Given the description of an element on the screen output the (x, y) to click on. 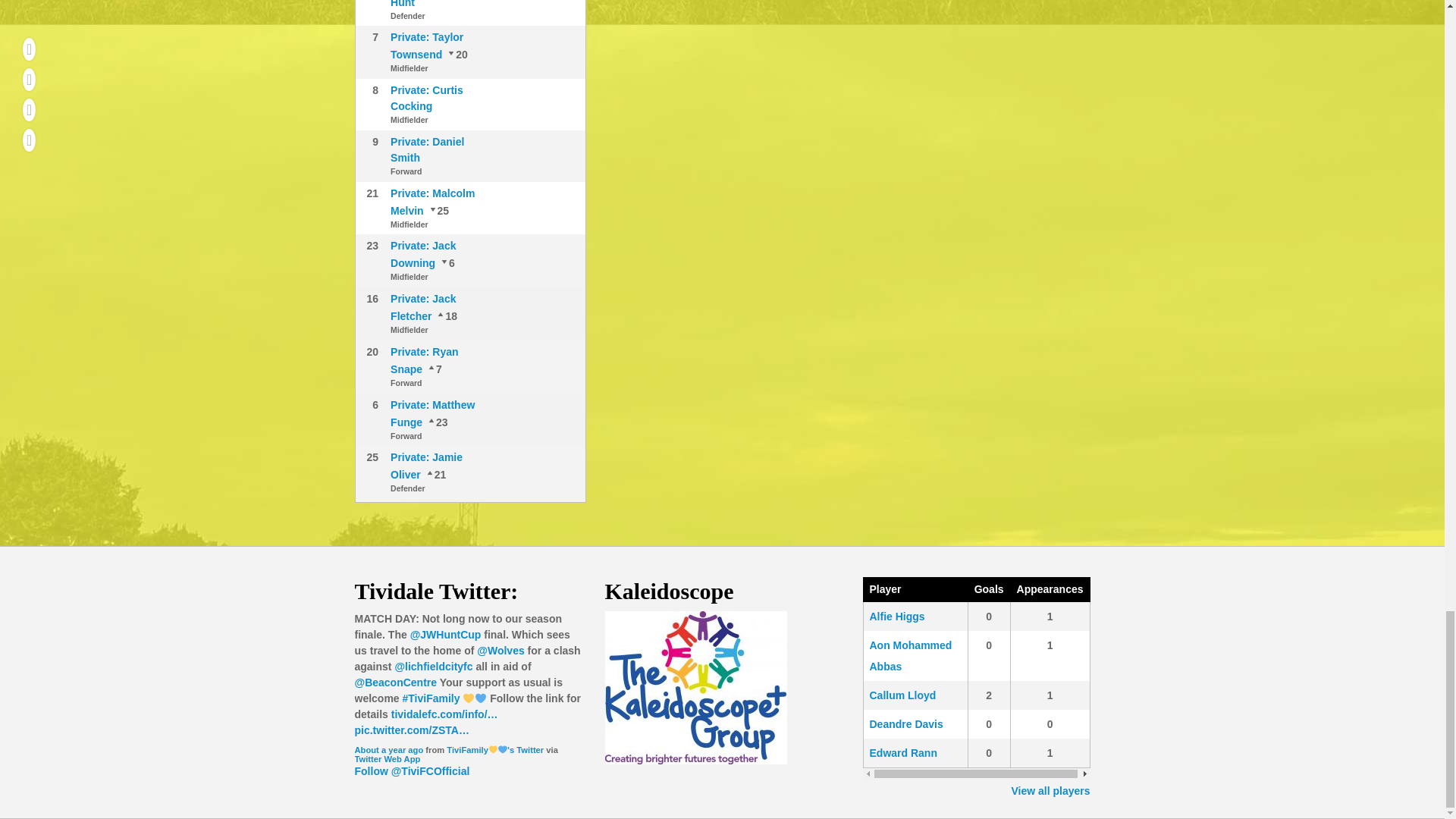
JW Hunt Cup (445, 634)
Private: Curtis Cocking (426, 98)
Lichfield City FC (432, 666)
Private: Malcolm Melvin (434, 474)
Private: Matthew Funge (446, 263)
Private: Taylor Townsend (426, 45)
Private: Jason Wood (445, 316)
Wolves (500, 650)
Private: Ryan Snape (456, 54)
